Given the description of an element on the screen output the (x, y) to click on. 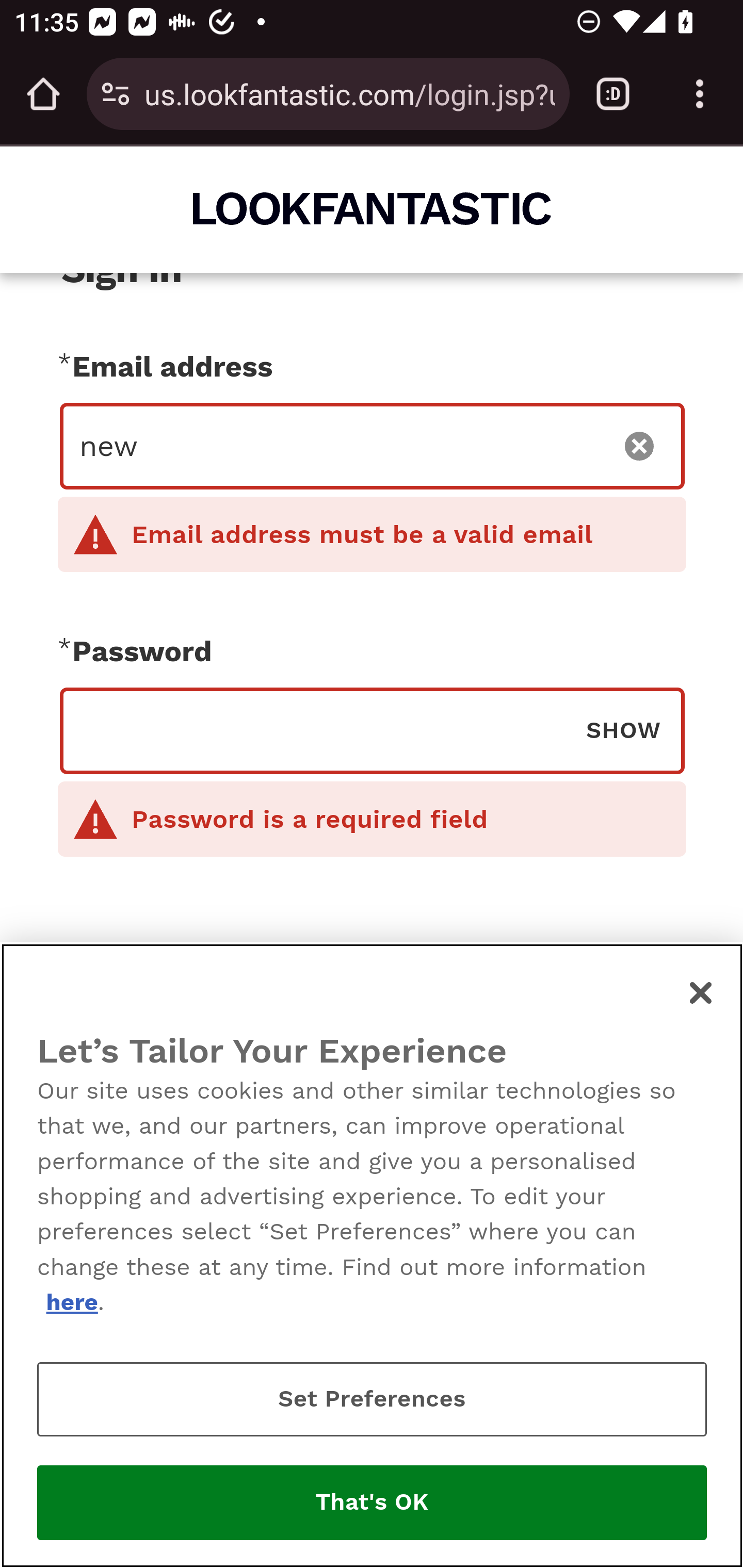
Open the home page (43, 93)
Connection is secure (115, 93)
Switch or close tabs (612, 93)
Customize and control Google Chrome (699, 93)
Lookfantastic USA Home page (372, 208)
new (339, 445)
Clear field (639, 445)
Show Password (623, 729)
Close (701, 992)
Sign in to your account (371, 1070)
here (71, 1302)
Set Preferences (372, 1399)
That's OK (372, 1502)
